Given the description of an element on the screen output the (x, y) to click on. 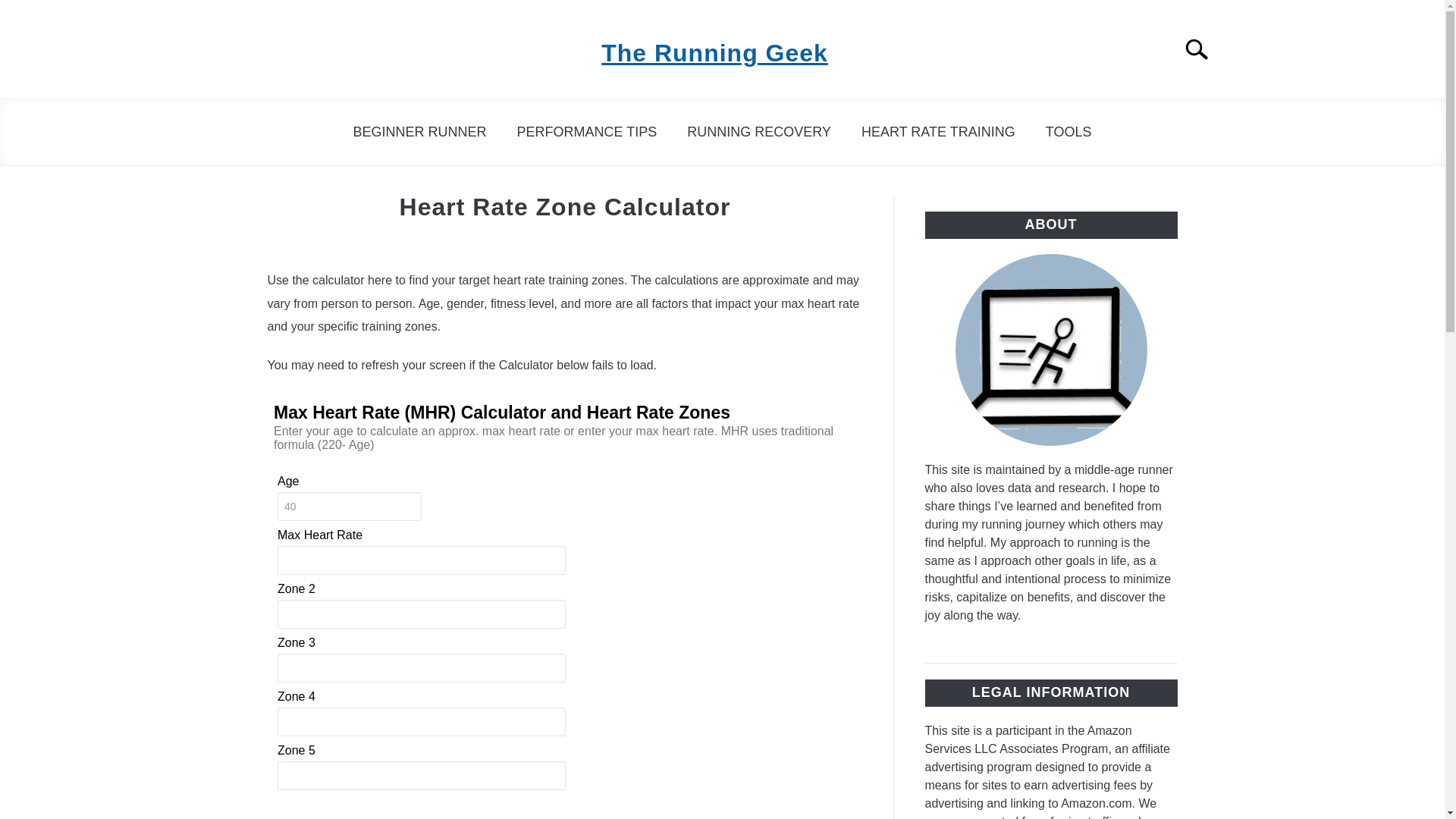
BEGINNER RUNNER (419, 131)
HEART RATE TRAINING (937, 131)
Search (1203, 49)
RUNNING RECOVERY (758, 131)
TOOLS (1068, 131)
PERFORMANCE TIPS (587, 131)
The Running Geek (714, 53)
